Given the description of an element on the screen output the (x, y) to click on. 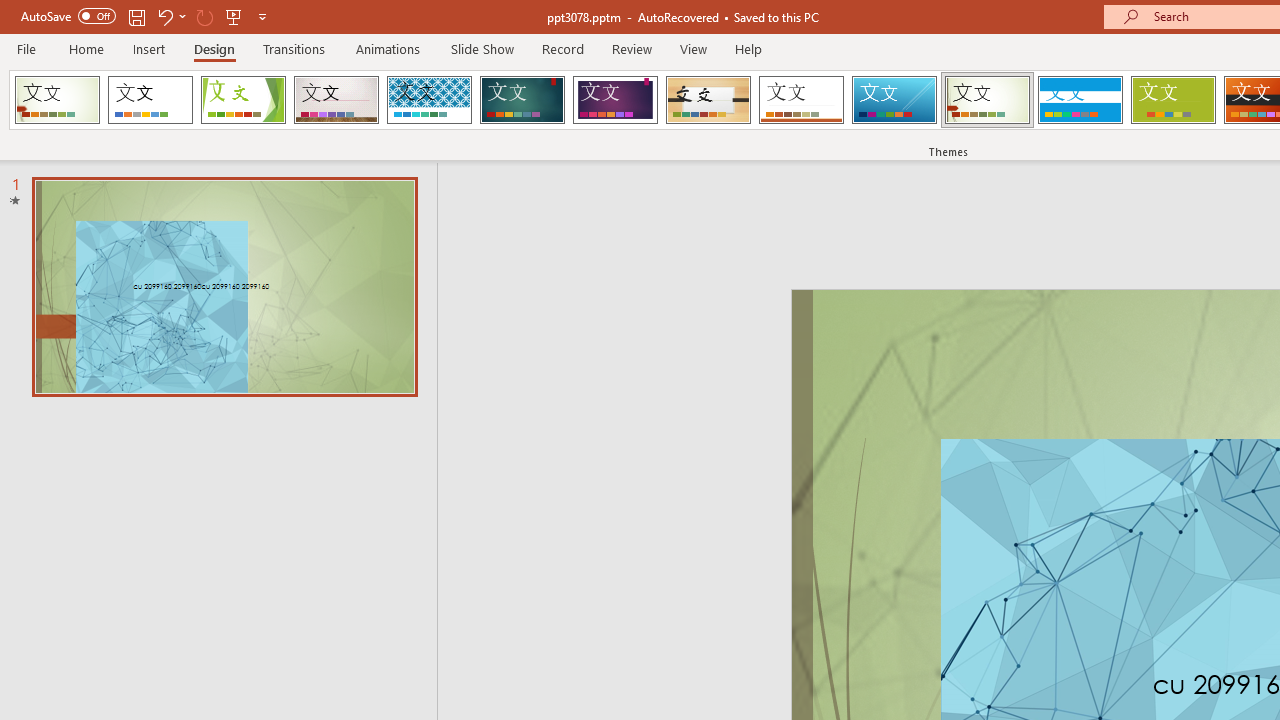
Slice (893, 100)
Ion (522, 100)
